Given the description of an element on the screen output the (x, y) to click on. 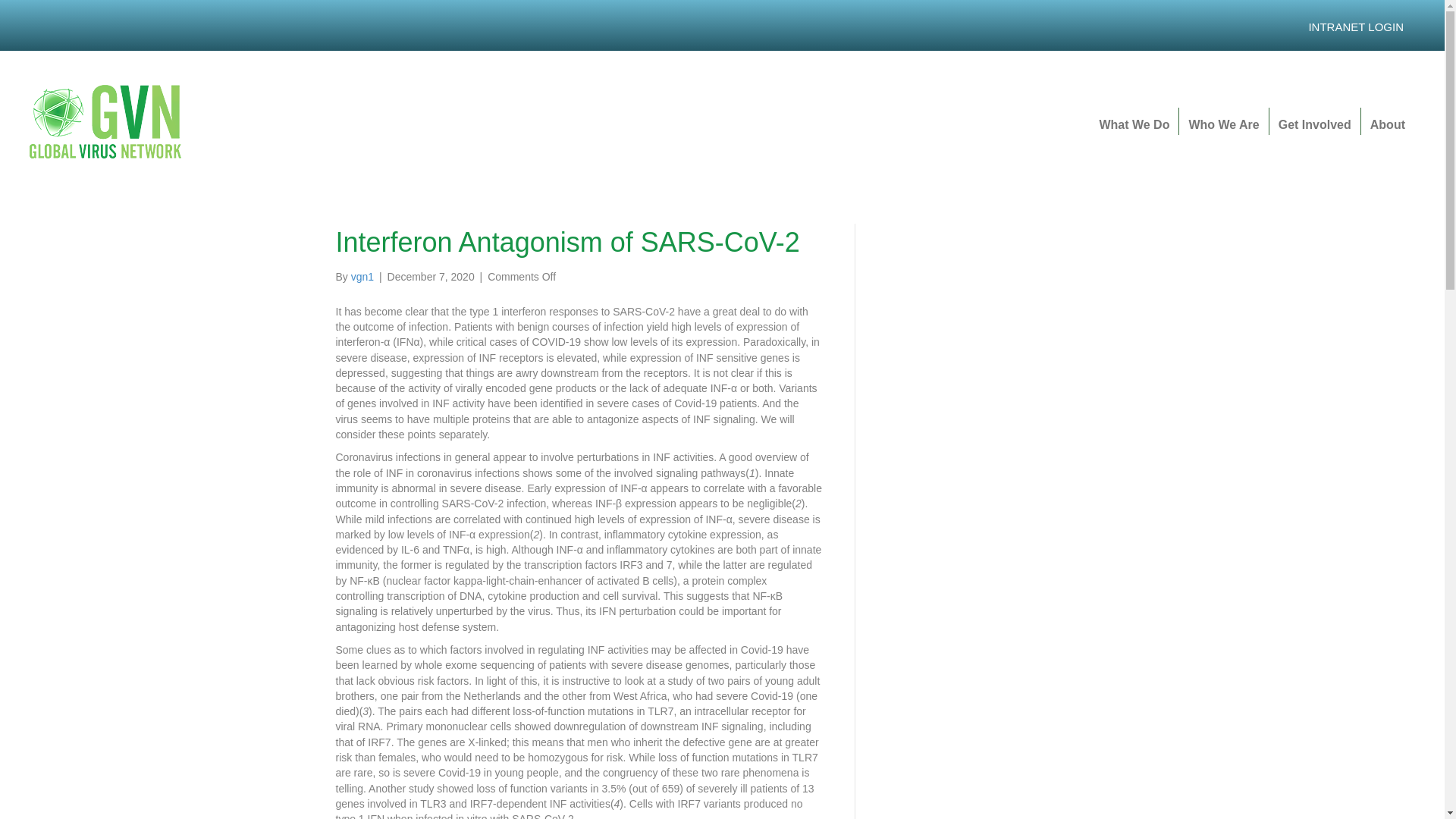
INTRANET LOGIN (1355, 26)
What We Do (1133, 121)
About (1387, 121)
Who We Are (1223, 121)
Get Involved (1314, 121)
vgn1 (362, 276)
logoGVN (106, 121)
